Given the description of an element on the screen output the (x, y) to click on. 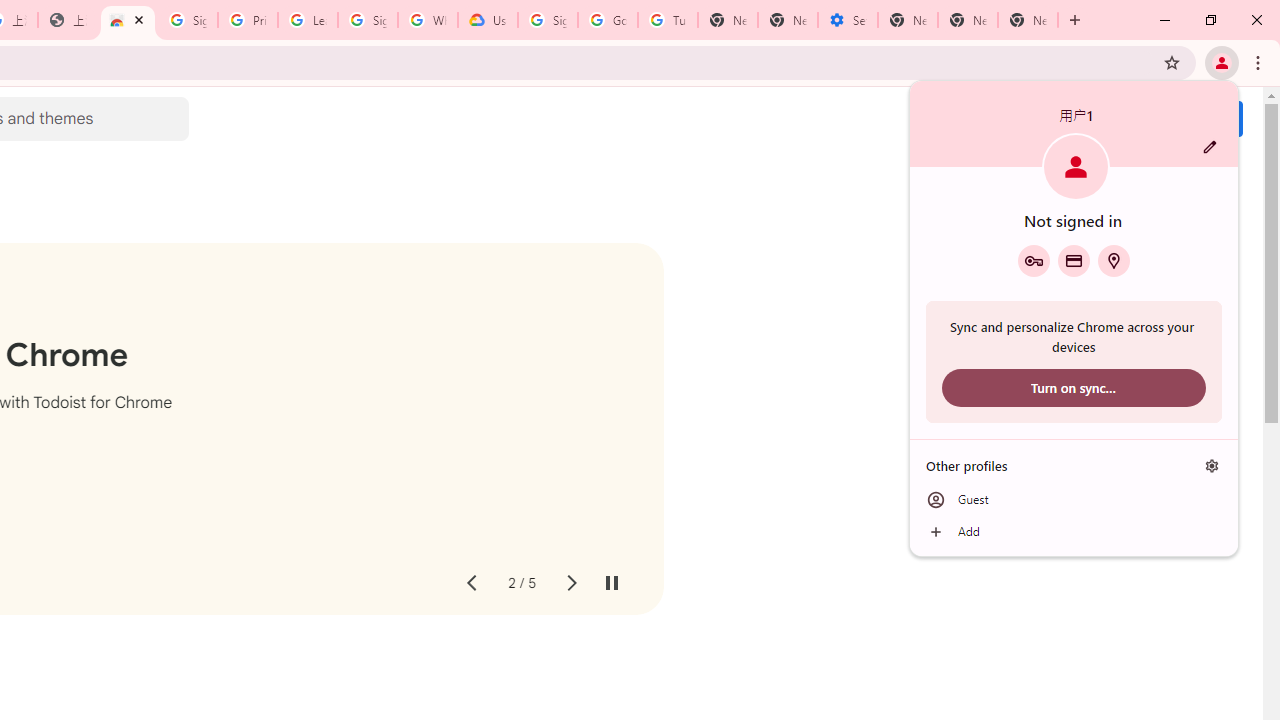
Chrome Web Store (127, 20)
Previous slide (470, 583)
Settings - Addresses and more (847, 20)
Customize profile (1210, 147)
Google Account Help (607, 20)
Sign in - Google Accounts (367, 20)
Sign in - Google Accounts (187, 20)
New Tab (1028, 20)
